Given the description of an element on the screen output the (x, y) to click on. 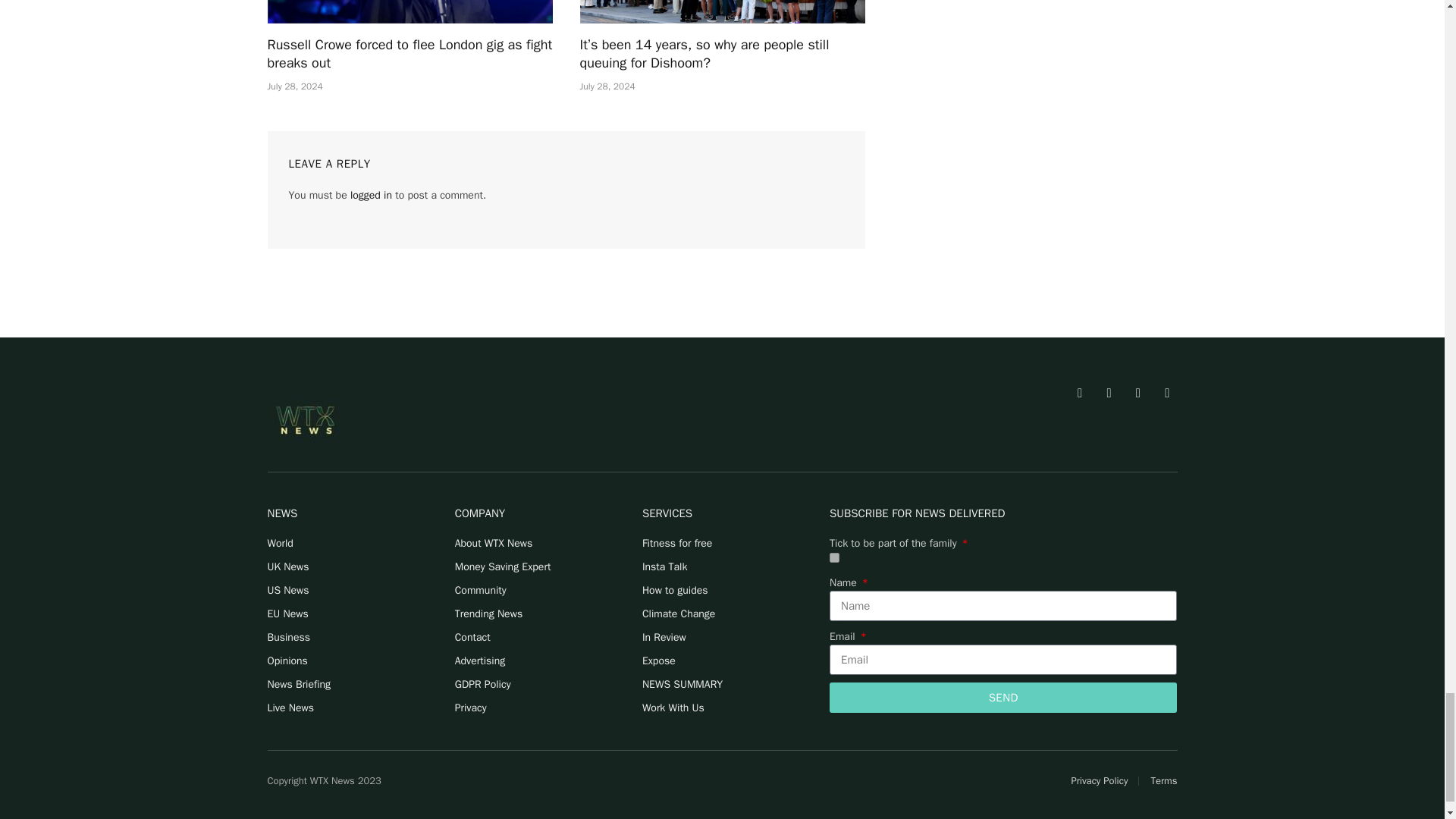
on (834, 557)
